Given the description of an element on the screen output the (x, y) to click on. 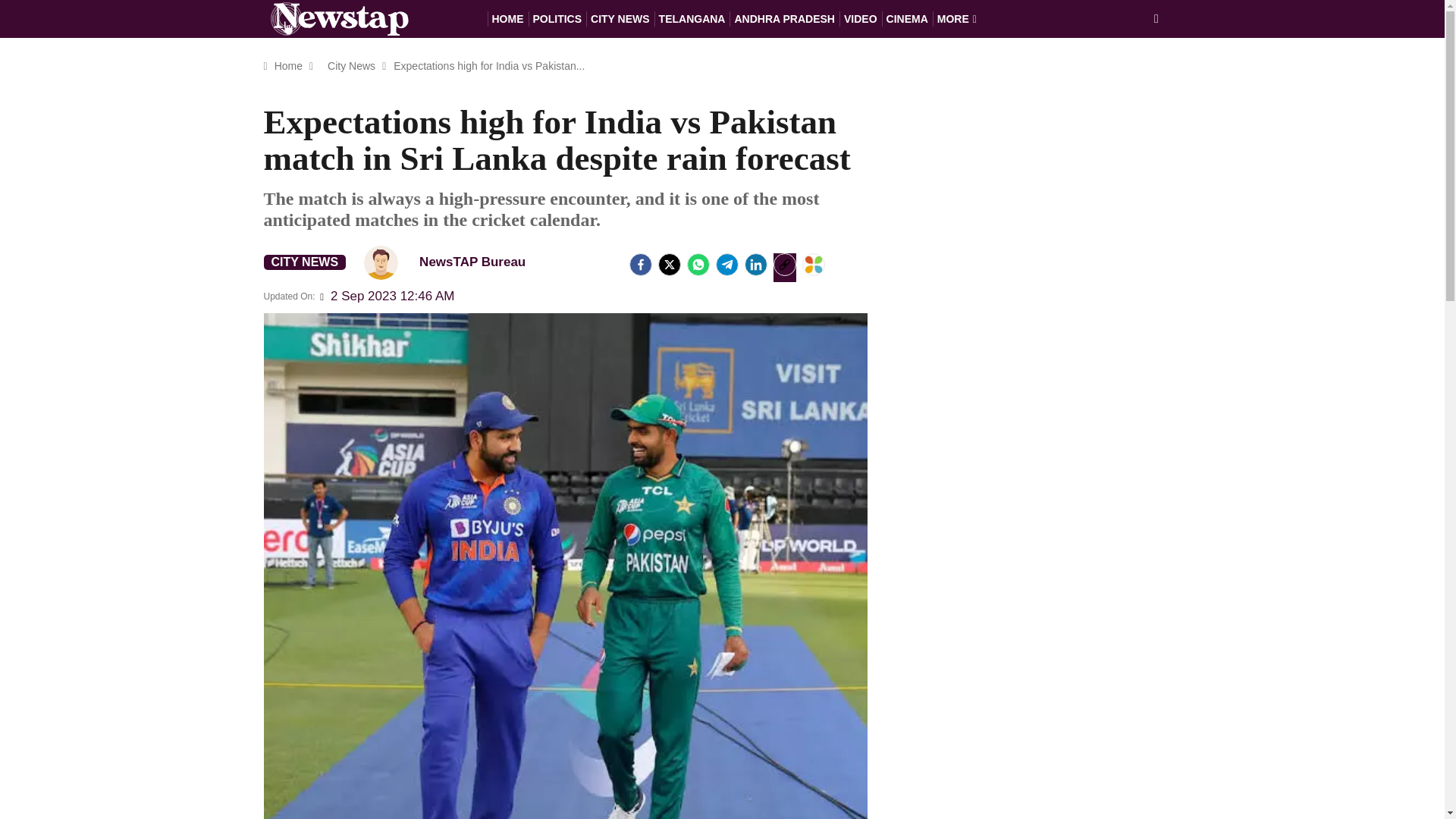
TELANGANA (691, 18)
HOME (506, 18)
ANDHRA PRADESH (784, 18)
POLITICS (556, 18)
NewsTAP Bureau (380, 262)
CITY NEWS (619, 18)
MORE (957, 18)
Home (287, 65)
CINEMA (907, 18)
